Given the description of an element on the screen output the (x, y) to click on. 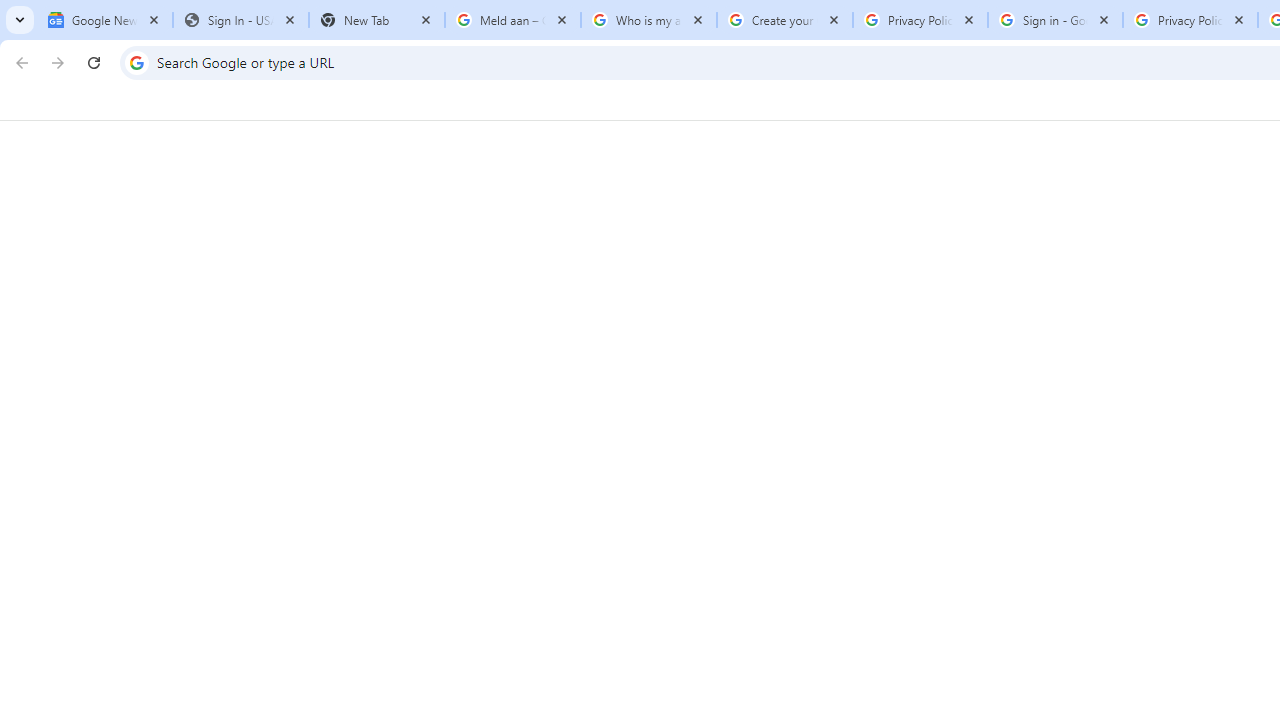
Create your Google Account (784, 20)
Who is my administrator? - Google Account Help (648, 20)
Sign in - Google Accounts (1055, 20)
Google News (104, 20)
New Tab (376, 20)
